Given the description of an element on the screen output the (x, y) to click on. 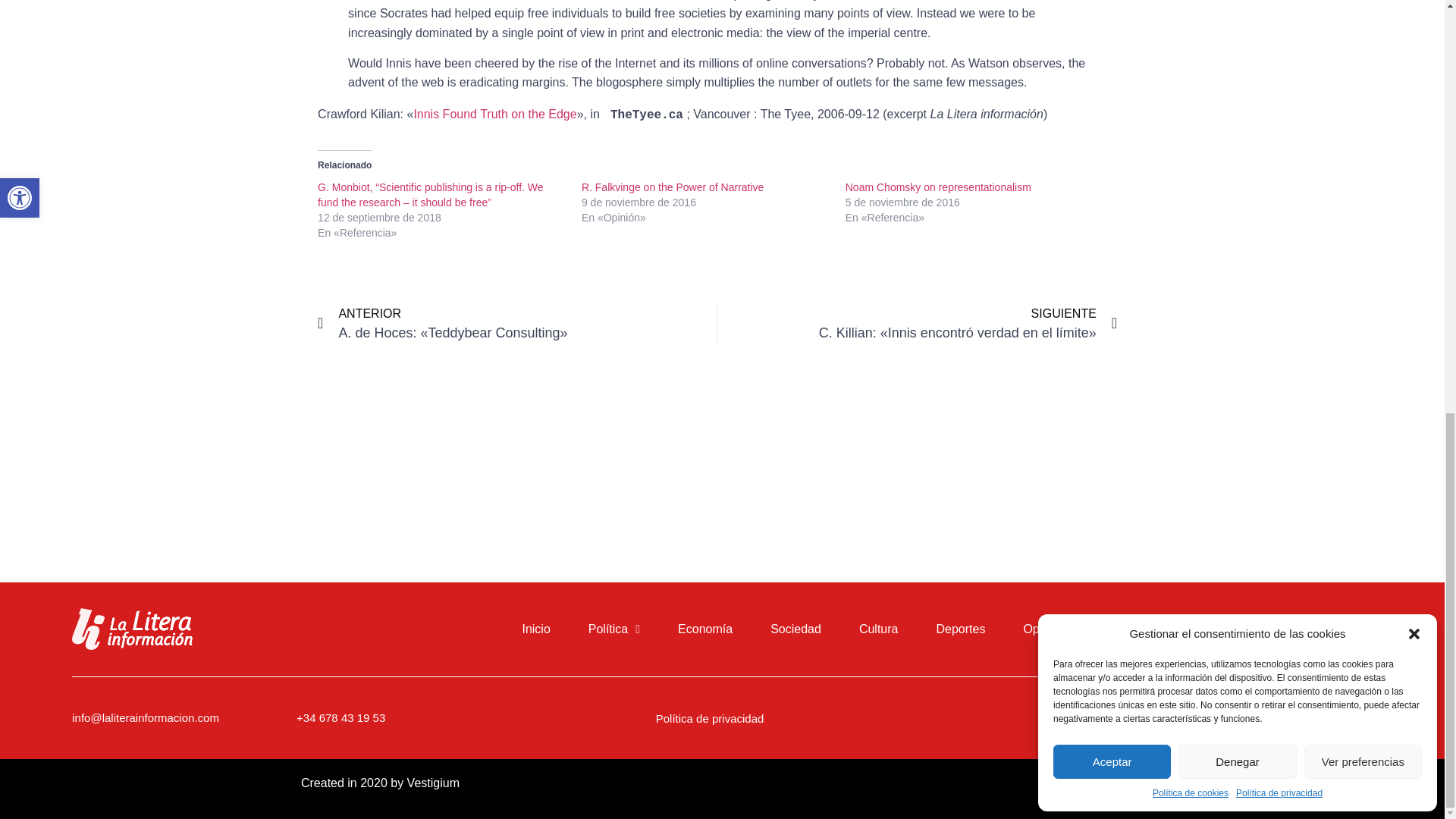
R. Falkvinge on the Power of Narrative (671, 186)
Noam Chomsky on representationalism (937, 186)
